Given the description of an element on the screen output the (x, y) to click on. 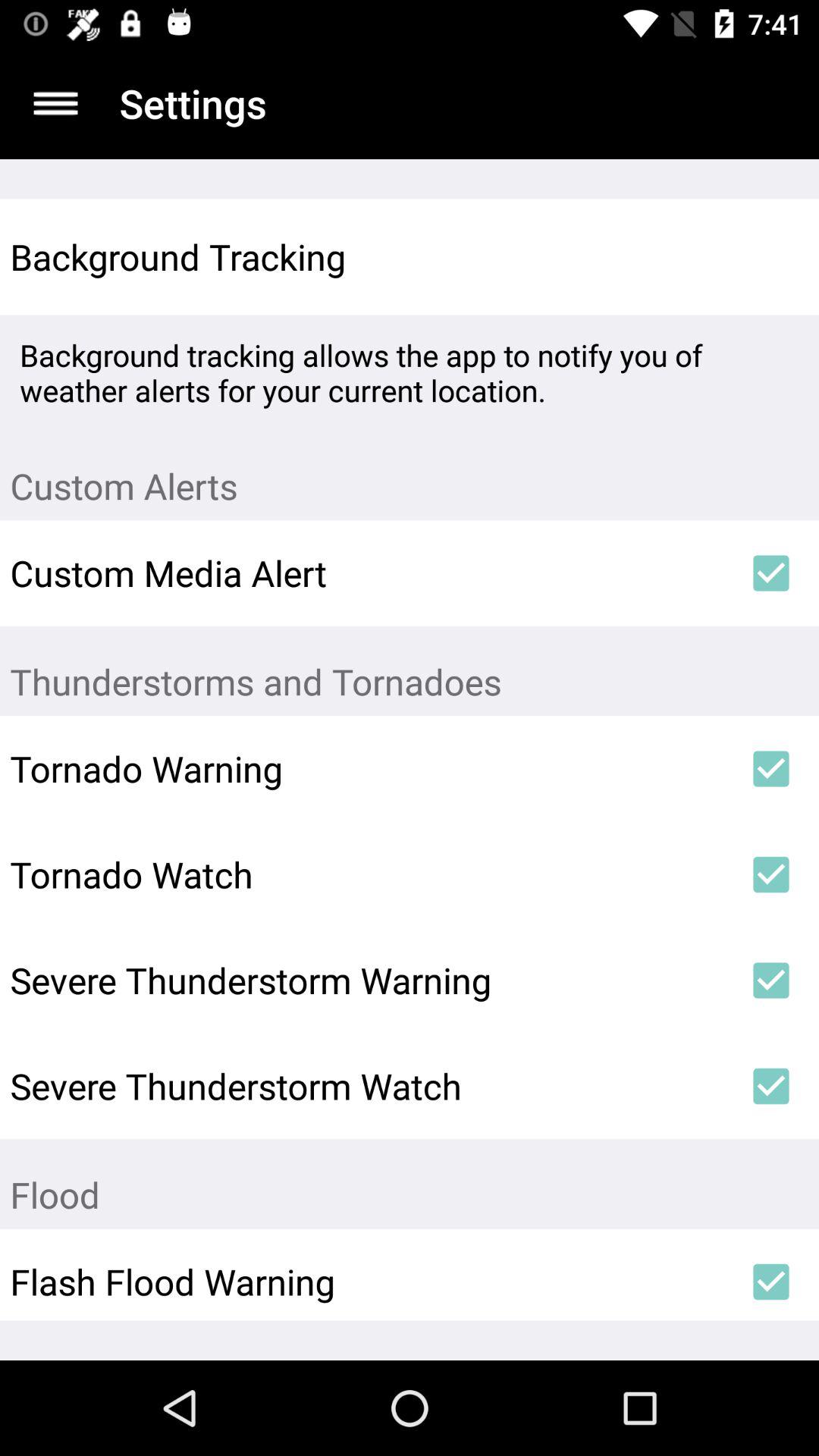
launch item to the right of custom media alert icon (771, 573)
